Given the description of an element on the screen output the (x, y) to click on. 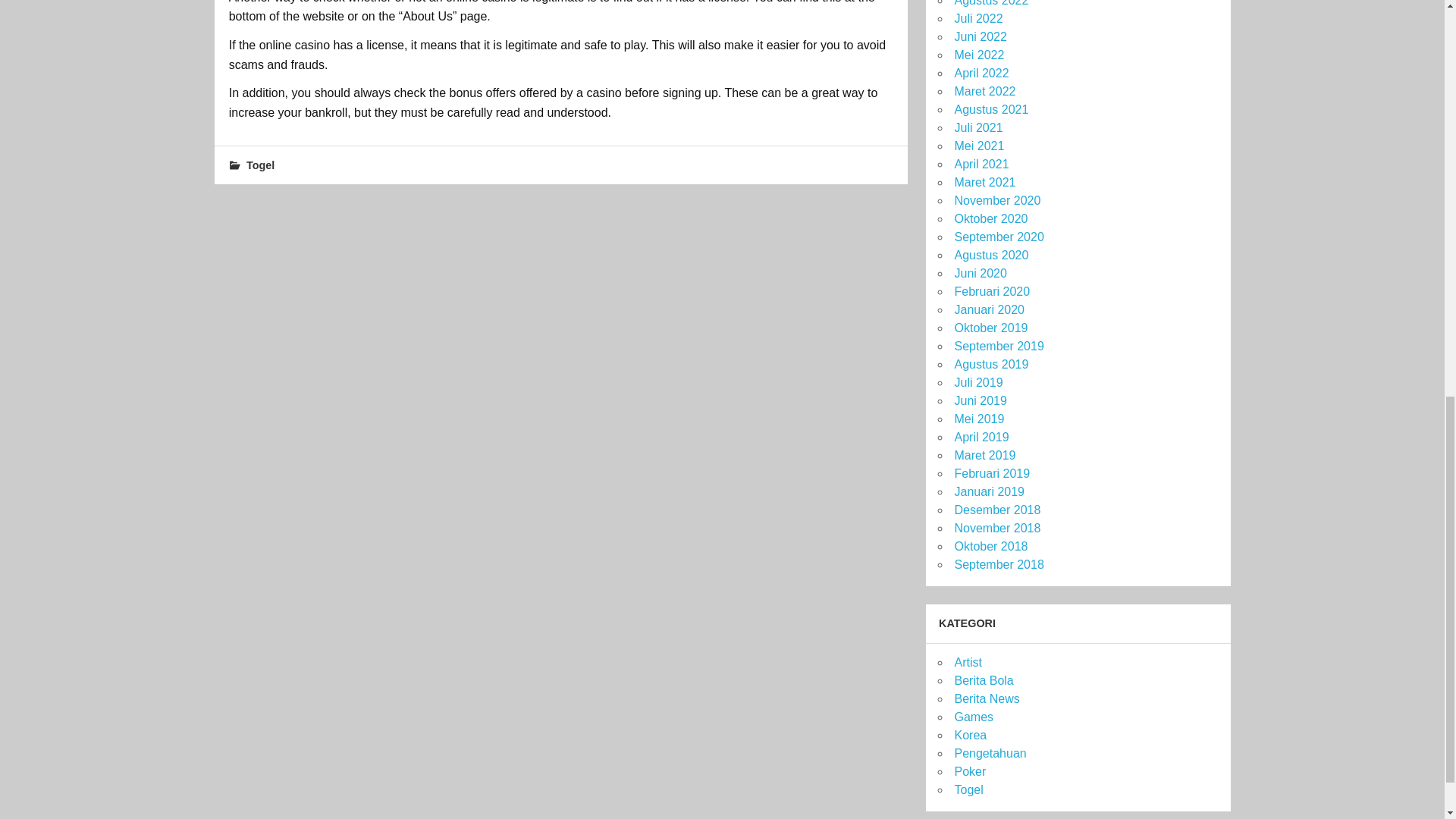
Agustus 2022 (990, 3)
Togel (260, 164)
Juli 2022 (978, 18)
